Given the description of an element on the screen output the (x, y) to click on. 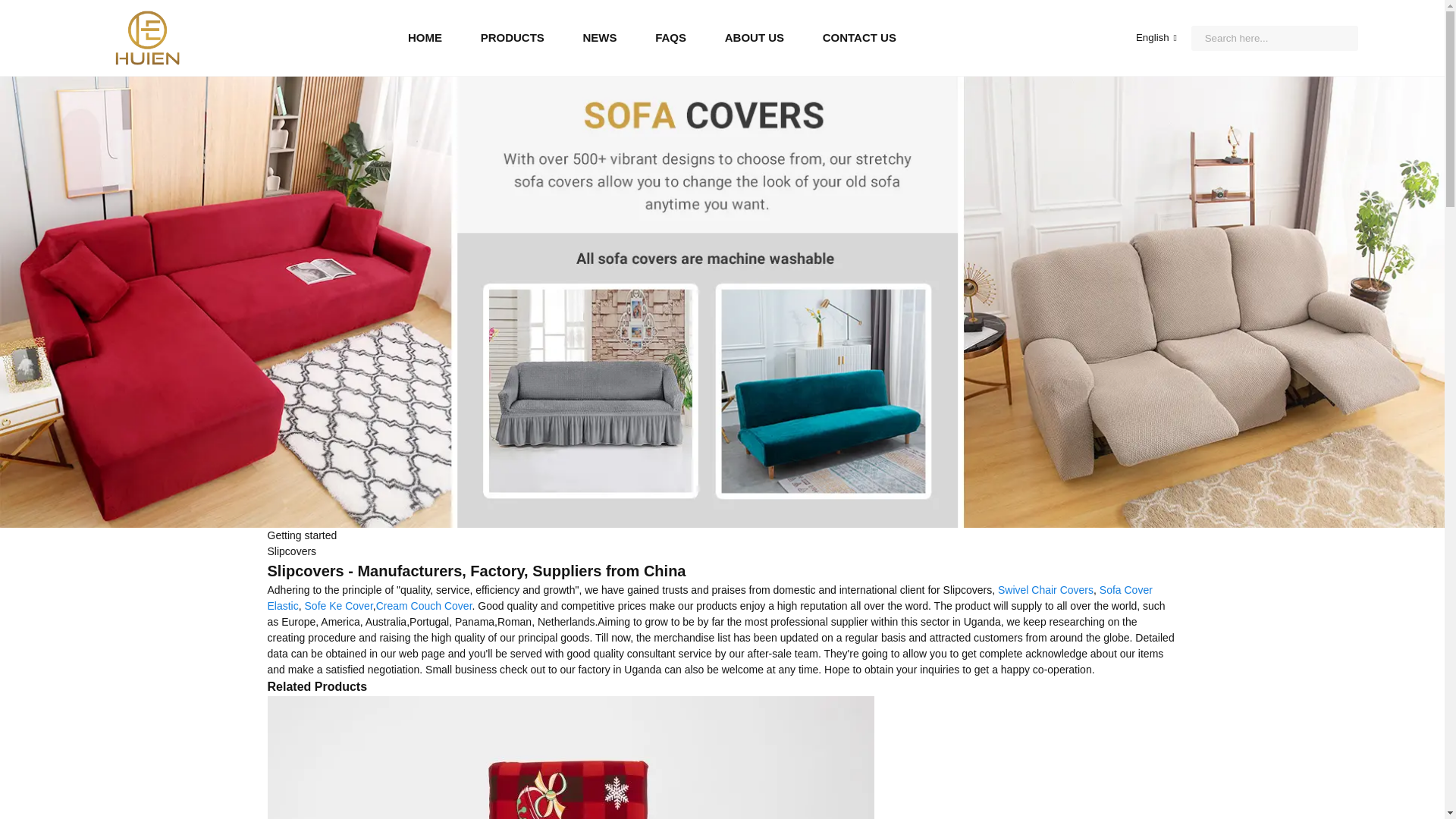
ABOUT US (754, 37)
PRODUCTS (512, 37)
Sofe Ke Cover (338, 605)
CONTACT US (859, 37)
Slipcovers (290, 551)
Sofa Cover Elastic (708, 597)
English (1143, 37)
Swivel Chair Covers (1045, 589)
Sofe Ke Cover (338, 605)
Cream Couch Cover (423, 605)
